Given the description of an element on the screen output the (x, y) to click on. 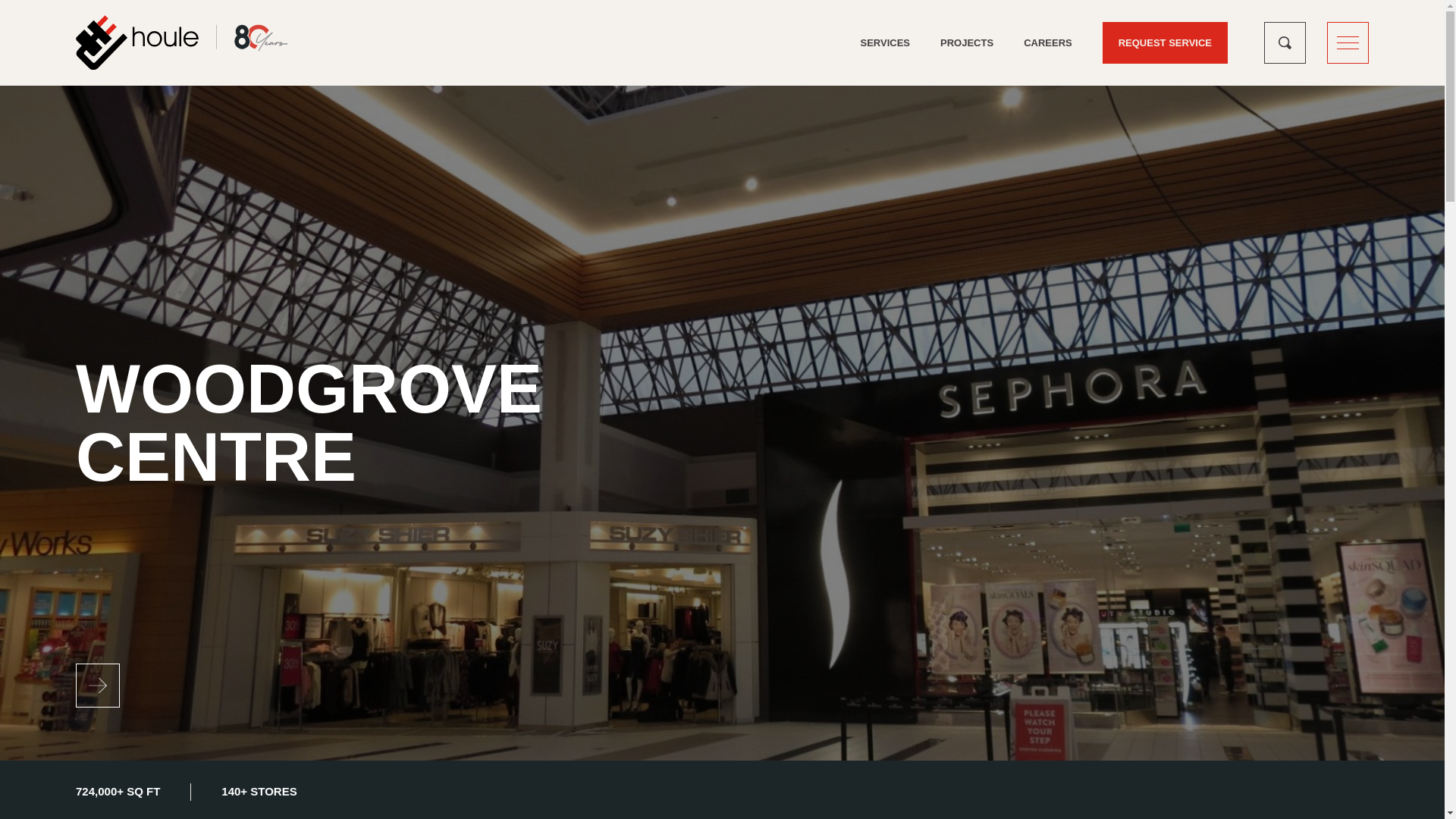
CAREERS (1048, 42)
SERVICES (885, 42)
PROJECTS (966, 42)
REQUEST SERVICE (1164, 42)
